Given the description of an element on the screen output the (x, y) to click on. 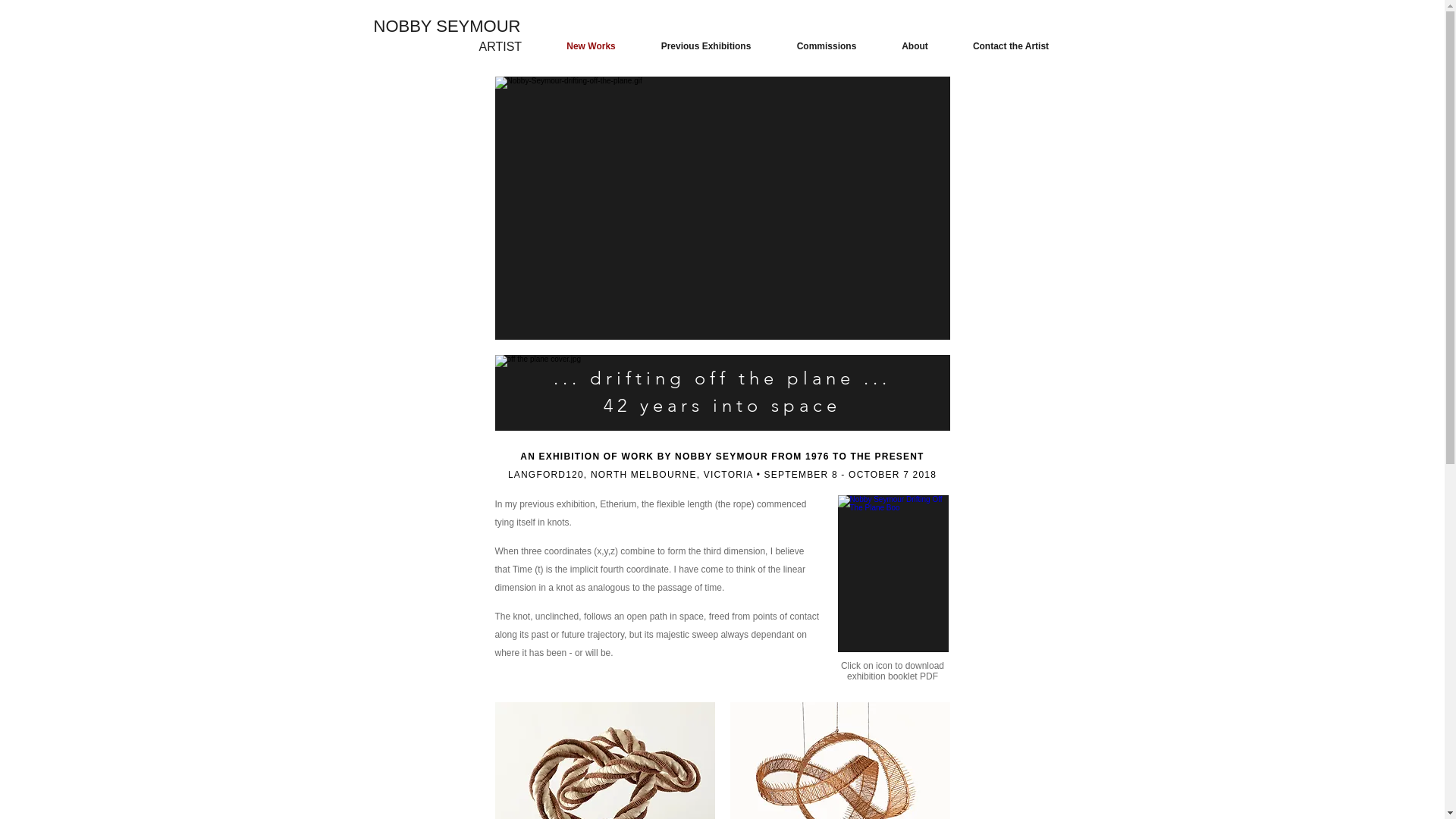
Contact the Artist Element type: text (1010, 45)
ARTIST Element type: text (500, 46)
Commissions Element type: text (825, 45)
New Works Element type: text (591, 45)
About Element type: text (914, 45)
NOBBY SEYMOUR Element type: text (446, 25)
Previous Exhibitions Element type: text (706, 45)
